Given the description of an element on the screen output the (x, y) to click on. 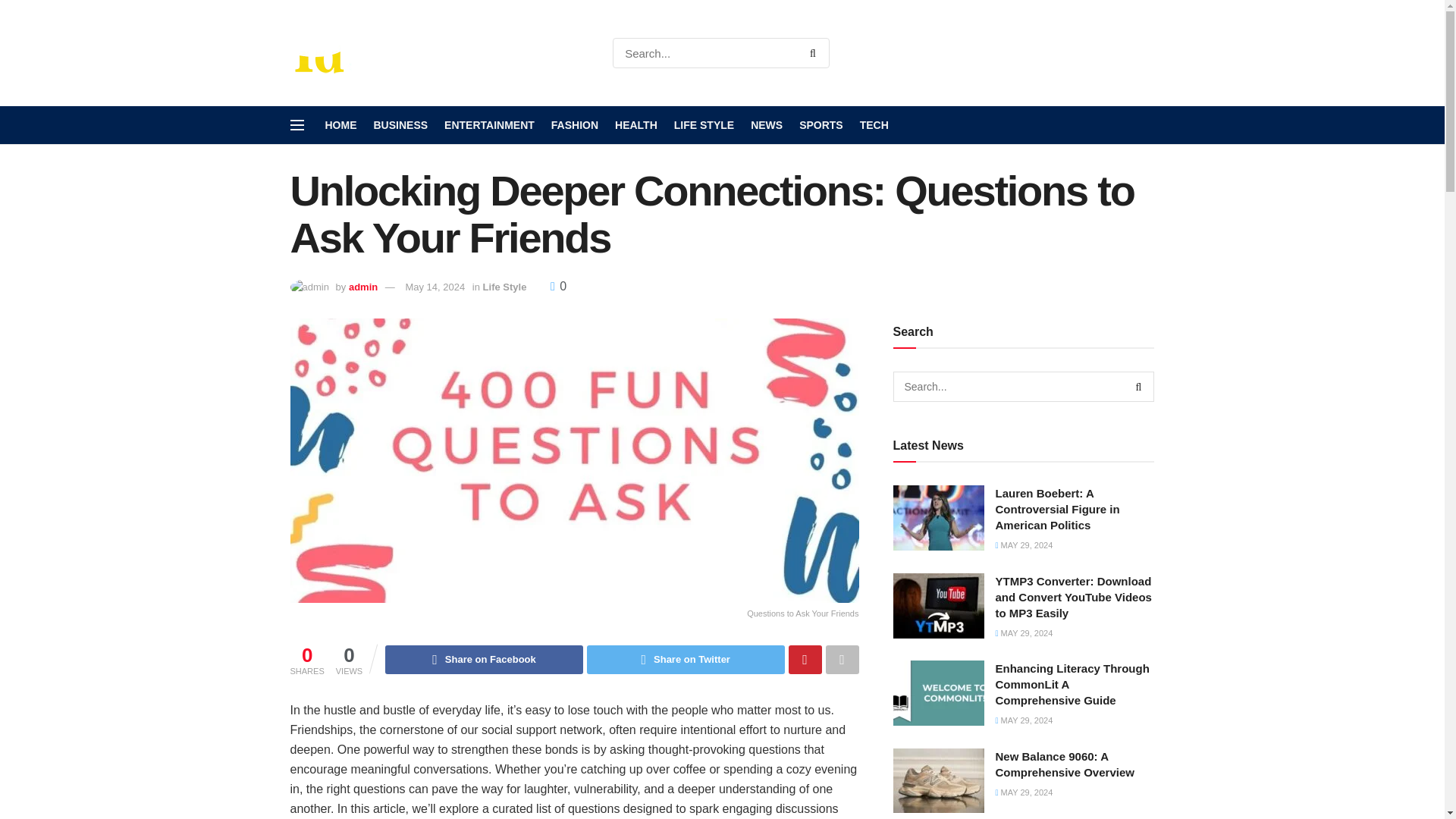
Share on Twitter (685, 659)
May 14, 2024 (434, 286)
0 (558, 286)
FASHION (574, 125)
ENTERTAINMENT (489, 125)
HEALTH (636, 125)
SPORTS (821, 125)
admin (363, 286)
Share on Facebook (484, 659)
BUSINESS (400, 125)
LIFE STYLE (703, 125)
Life Style (505, 286)
